Given the description of an element on the screen output the (x, y) to click on. 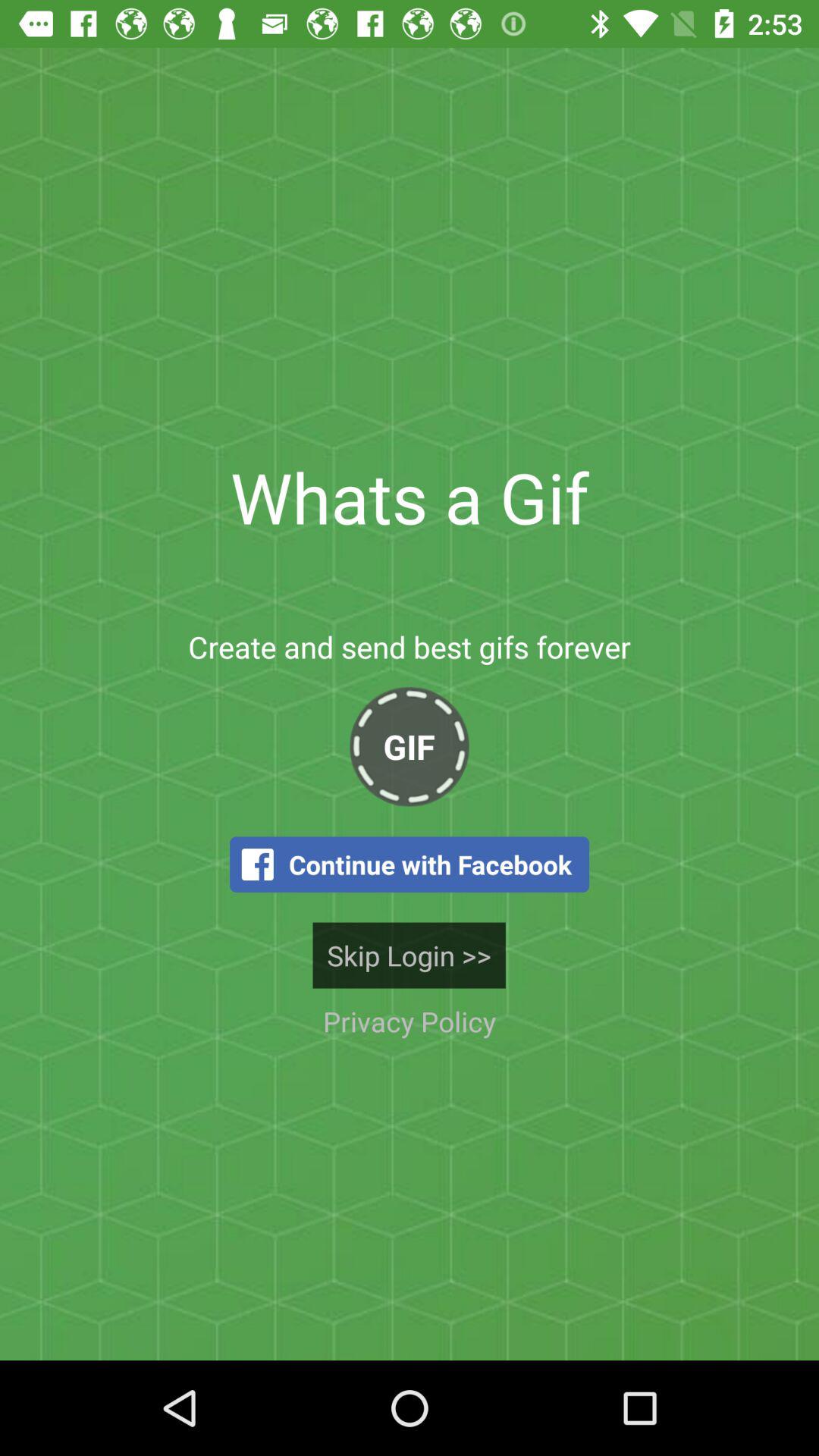
click item above the skip login >> (409, 864)
